Given the description of an element on the screen output the (x, y) to click on. 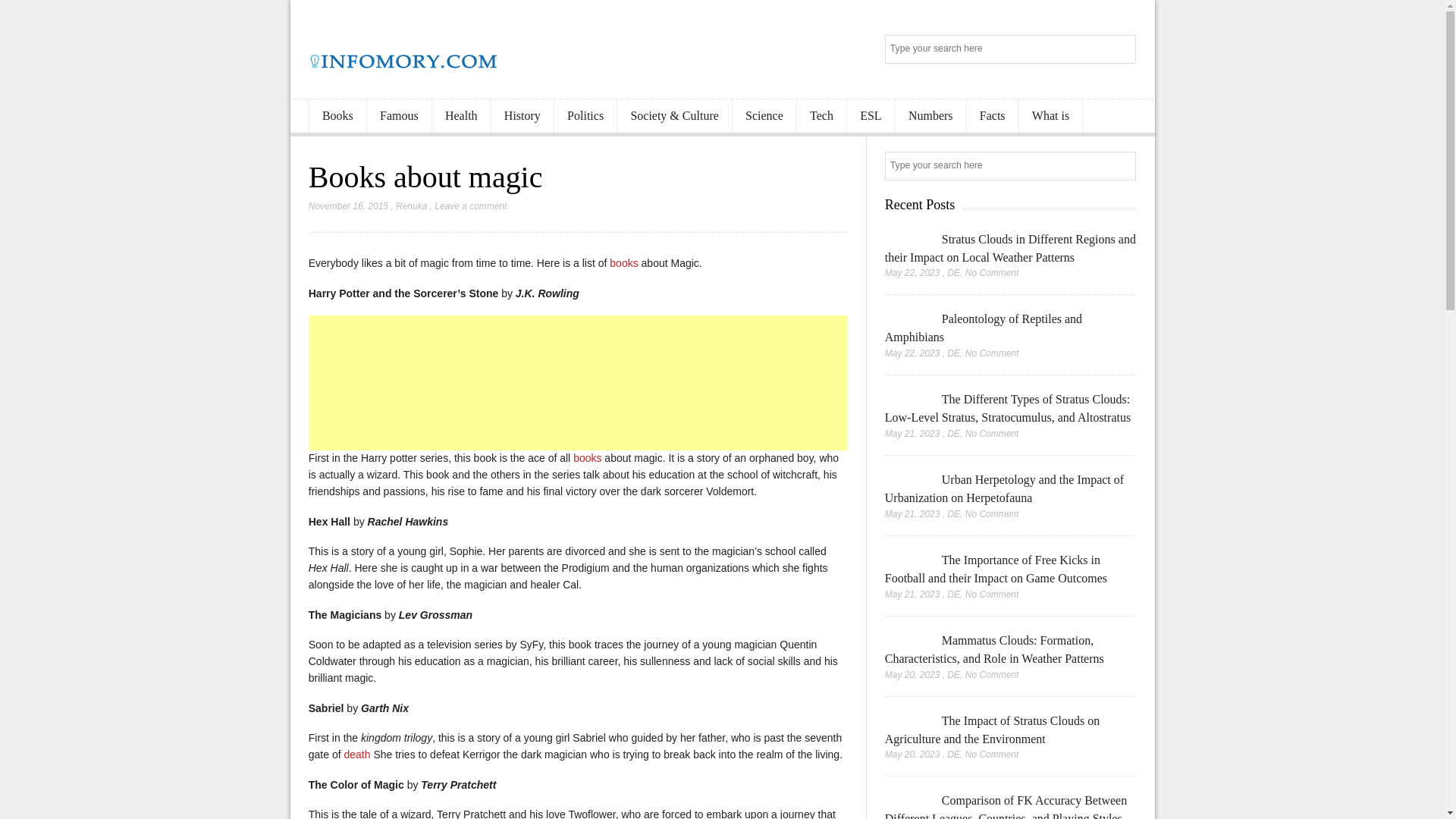
Search (1123, 167)
BOOKS ABOUT SERIAL KILLERS (587, 458)
DE (953, 272)
books (587, 458)
Search (1123, 15)
Famous (398, 116)
Numbers (930, 116)
Science (764, 116)
BOOKS ON THE WEIGHTY BATTLE AGAINST ANOREXIA (623, 263)
Health (461, 116)
books (623, 263)
History (522, 116)
ESL (871, 116)
